Given the description of an element on the screen output the (x, y) to click on. 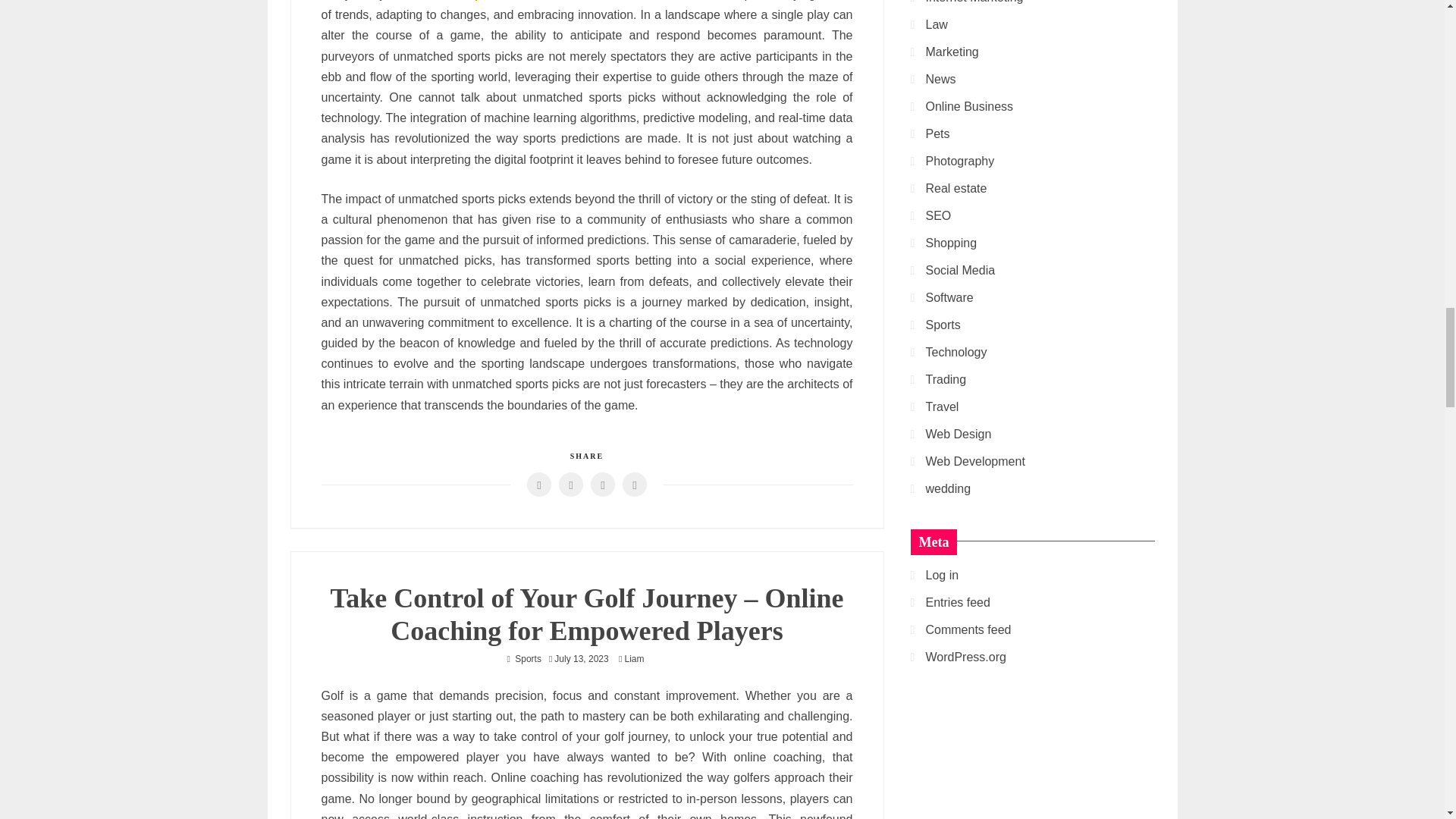
Sports (528, 658)
